Given the description of an element on the screen output the (x, y) to click on. 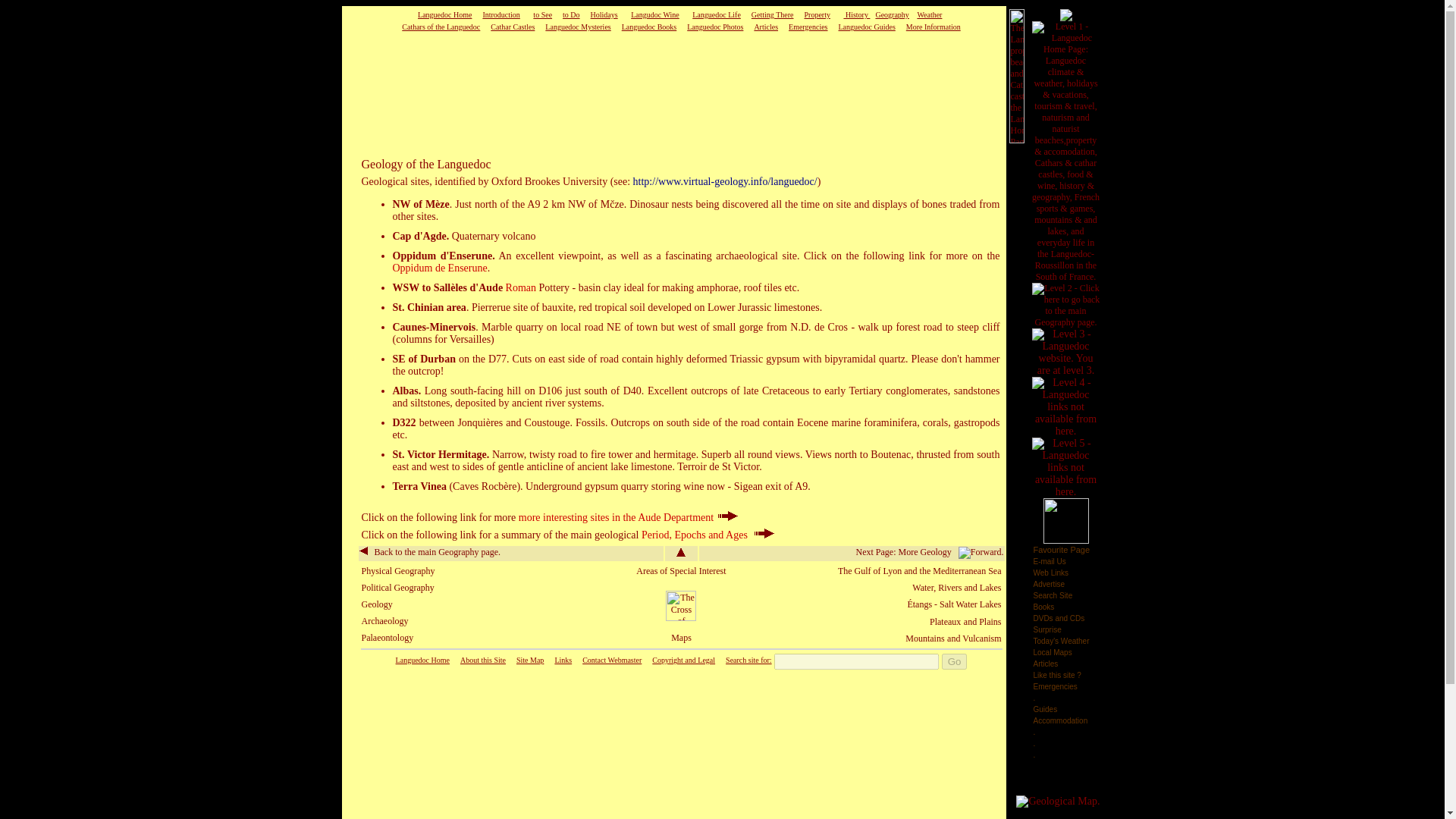
Archaeology (384, 620)
Political Geography (397, 587)
Areas of Special Interest (680, 570)
Articles about the Languedoc and Life in the South of France (765, 26)
more interesting sites in the Aude Department  (628, 517)
Next Page: More Geology    (930, 552)
More Information (932, 26)
Languedoc Books (649, 26)
Languedoc Photos: Click here for photos of the Languedoc (714, 26)
